Given the description of an element on the screen output the (x, y) to click on. 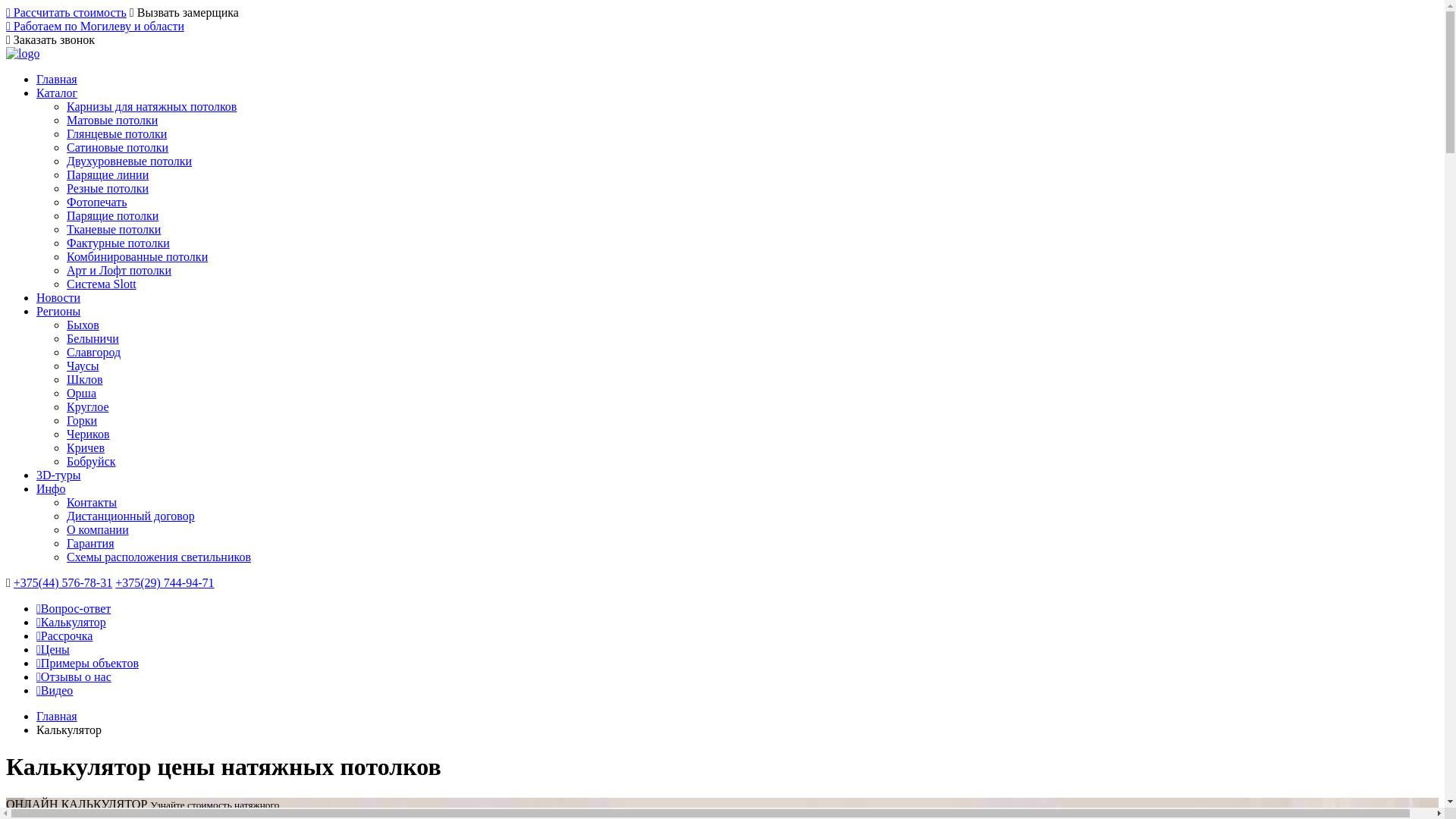
+375(29) 744-94-71 Element type: text (164, 582)
+375(44) 576-78-31 Element type: text (62, 582)
